Given the description of an element on the screen output the (x, y) to click on. 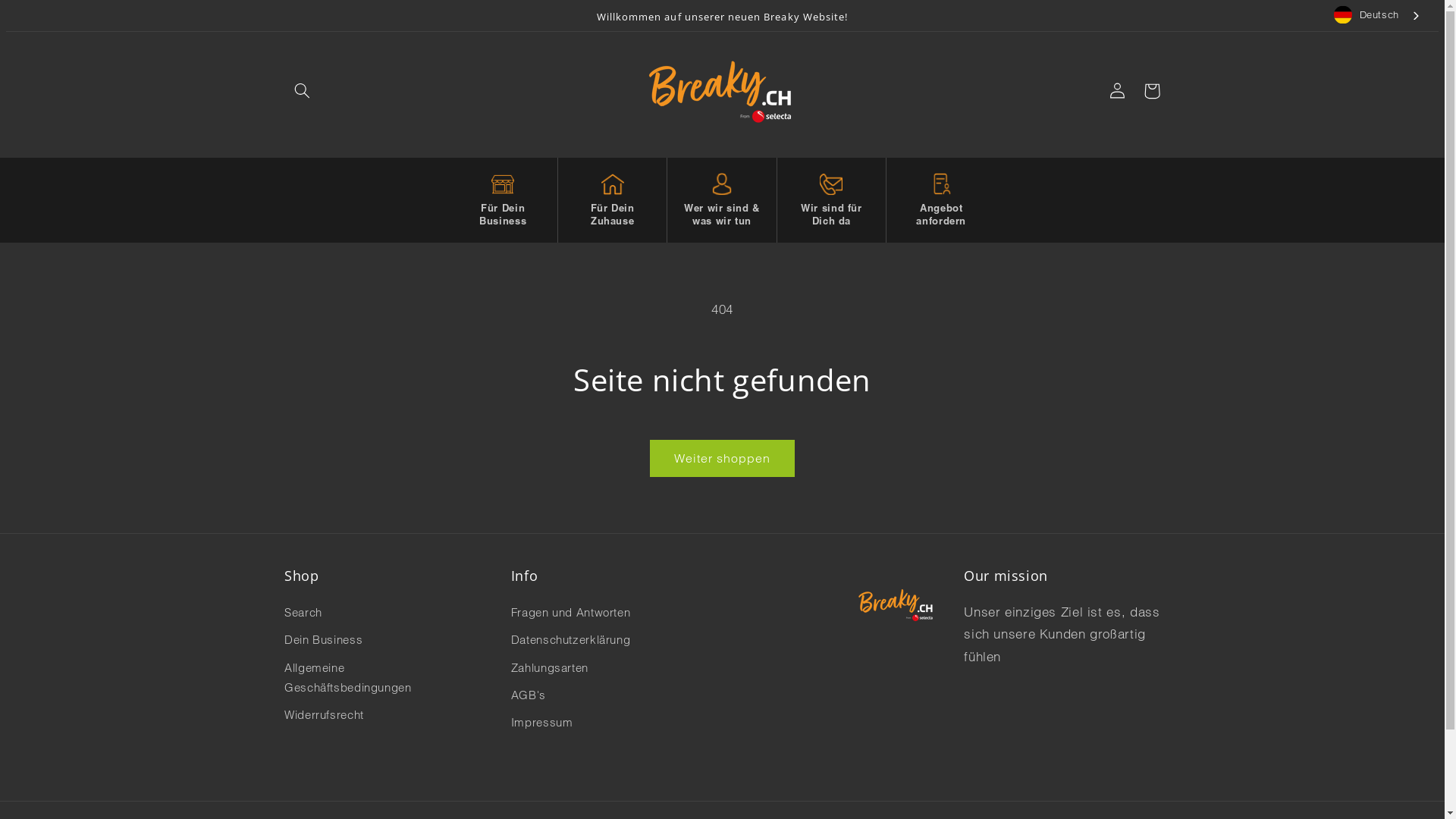
Zahlungsarten Element type: text (549, 666)
AGB's Element type: text (528, 695)
Dein Business Element type: text (323, 639)
Weiter shoppen Element type: text (721, 457)
Widerrufsrecht Element type: text (324, 714)
Search Element type: text (303, 614)
Fragen und Antworten Element type: text (570, 614)
Wer wir sind & was wir tun Element type: text (721, 199)
Deutsch Element type: text (1377, 14)
Warenkorb Element type: text (1151, 90)
Impressum Element type: text (542, 722)
Einloggen Element type: text (1116, 90)
Angebot anfordern Element type: text (940, 199)
